Given the description of an element on the screen output the (x, y) to click on. 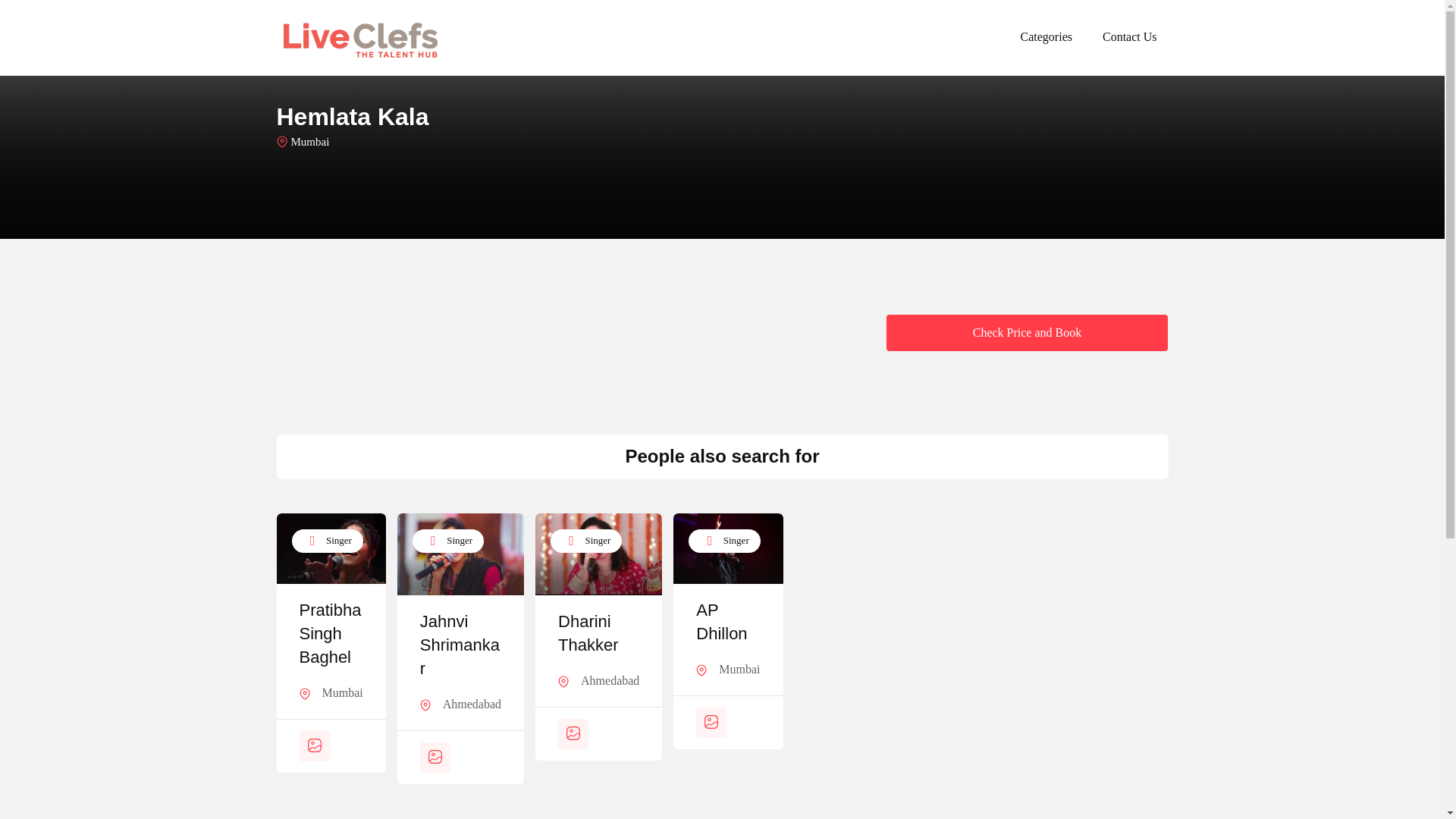
Dharini Thakker (598, 633)
Ahmedabad (609, 680)
Pratibha Singh Baghel (330, 633)
Mumbai (341, 692)
Check Price and Book (1026, 332)
Categories (1046, 37)
 Singer (326, 541)
Jahnvi Shrimankar (460, 645)
 Singer (585, 541)
 Singer (724, 541)
